Given the description of an element on the screen output the (x, y) to click on. 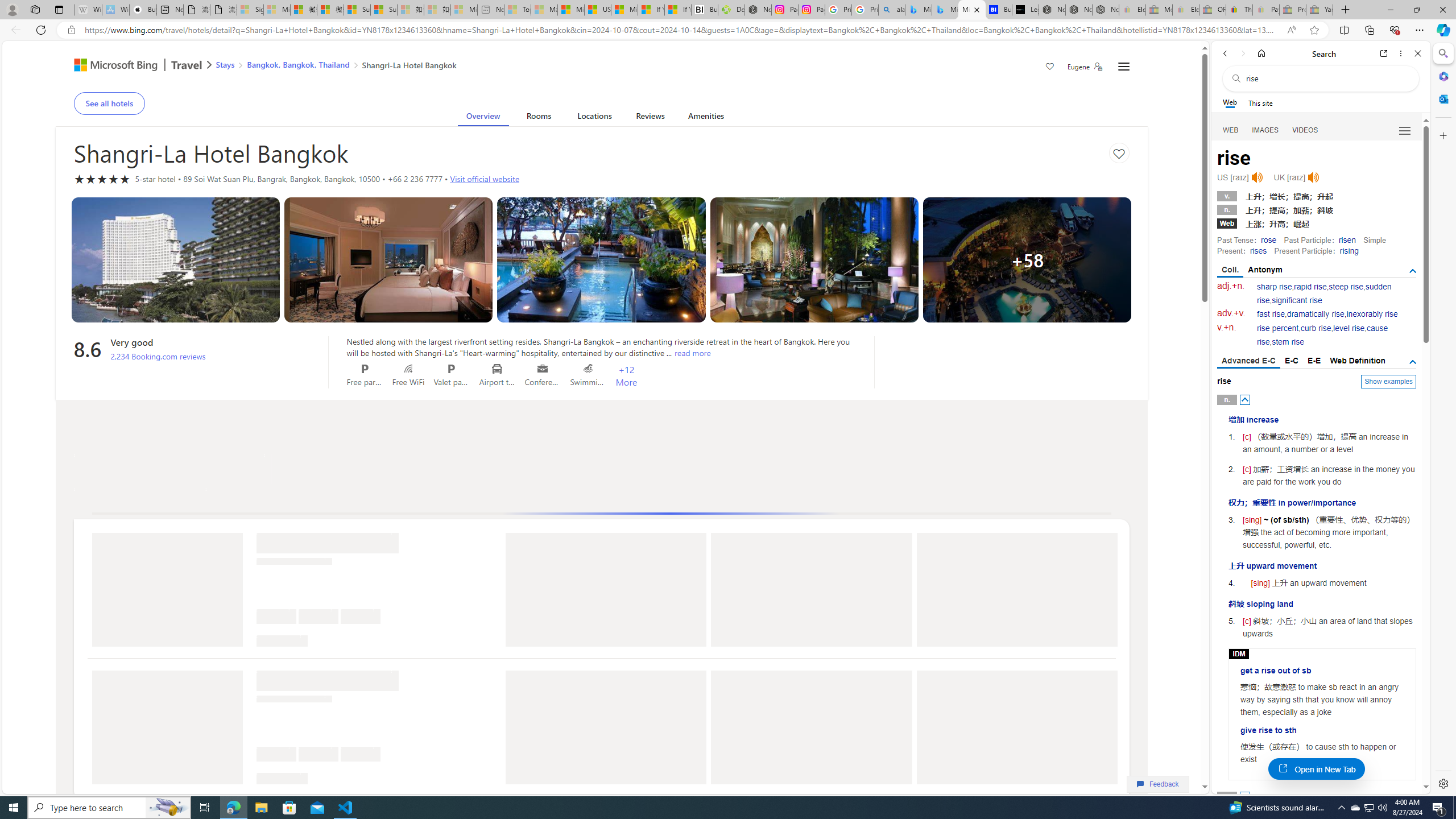
rises (1257, 250)
dramatically rise (1315, 313)
Microsoft Bing Travel - Shangri-La Hotel Bangkok (971, 9)
Class: ms-ShimmerLine-bottomLeftCorner bottomLeftCorner-135 (260, 777)
Free WiFi (408, 368)
Hotel room image (814, 259)
AutomationID: posbtn_1 (1245, 796)
Web Definition (1357, 360)
Coll. (1230, 270)
Microsoft Bing (110, 65)
